Given the description of an element on the screen output the (x, y) to click on. 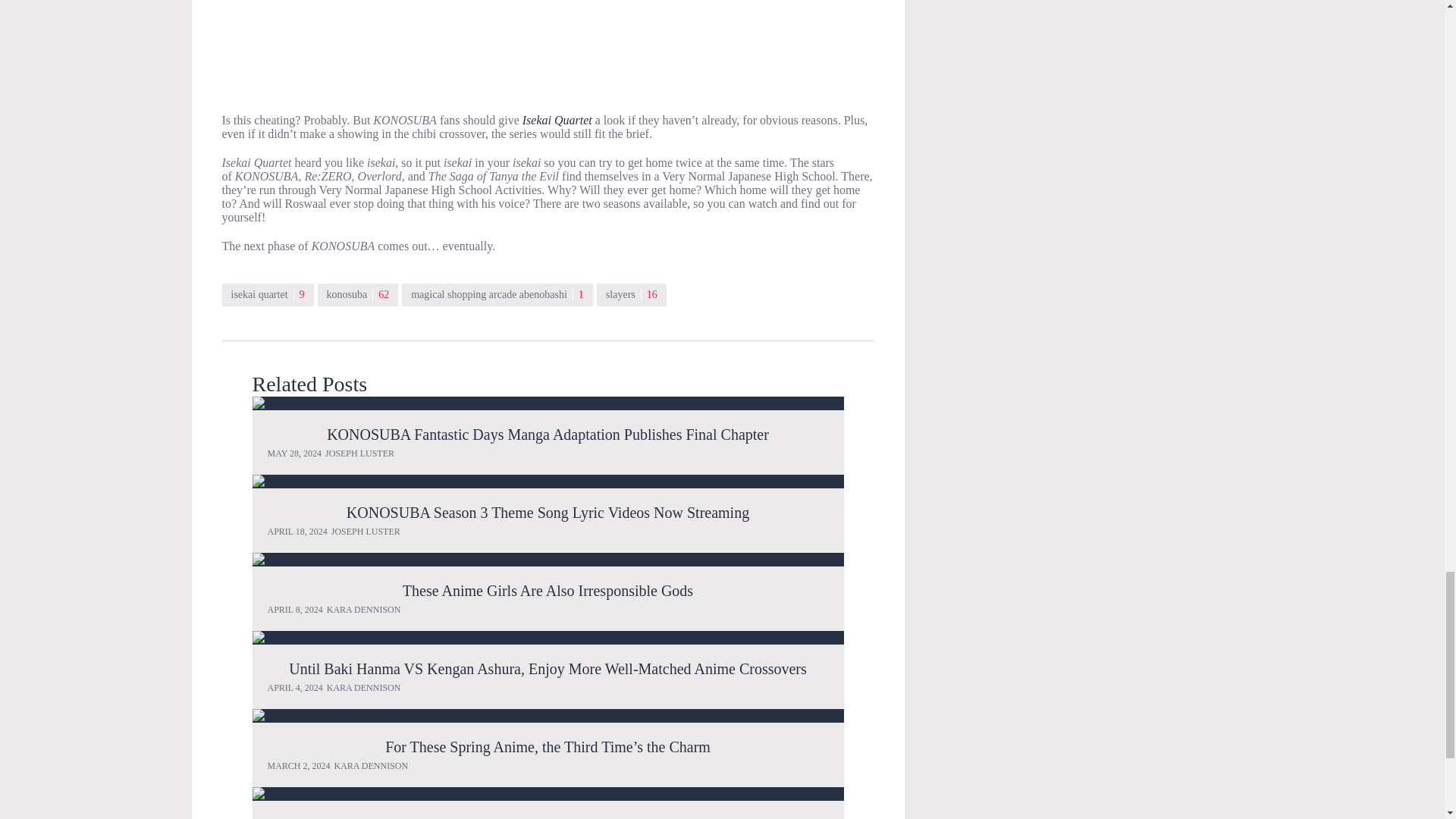
These Anime Girls Are Also Irresponsible Gods (548, 590)
KONOSUBA Season 3 Theme Song Lyric Videos Now Streaming (547, 512)
Isekai Quartet (557, 119)
KONOSUBA Season 3 Theme Song Lyric Videos Now Streaming (547, 481)
magical shopping arcade abenobashi 1 (496, 294)
isekai quartet 9 (267, 294)
slayers 16 (631, 294)
These Anime Girls Are Also Irresponsible Gods (547, 559)
konosuba 62 (357, 294)
